Given the description of an element on the screen output the (x, y) to click on. 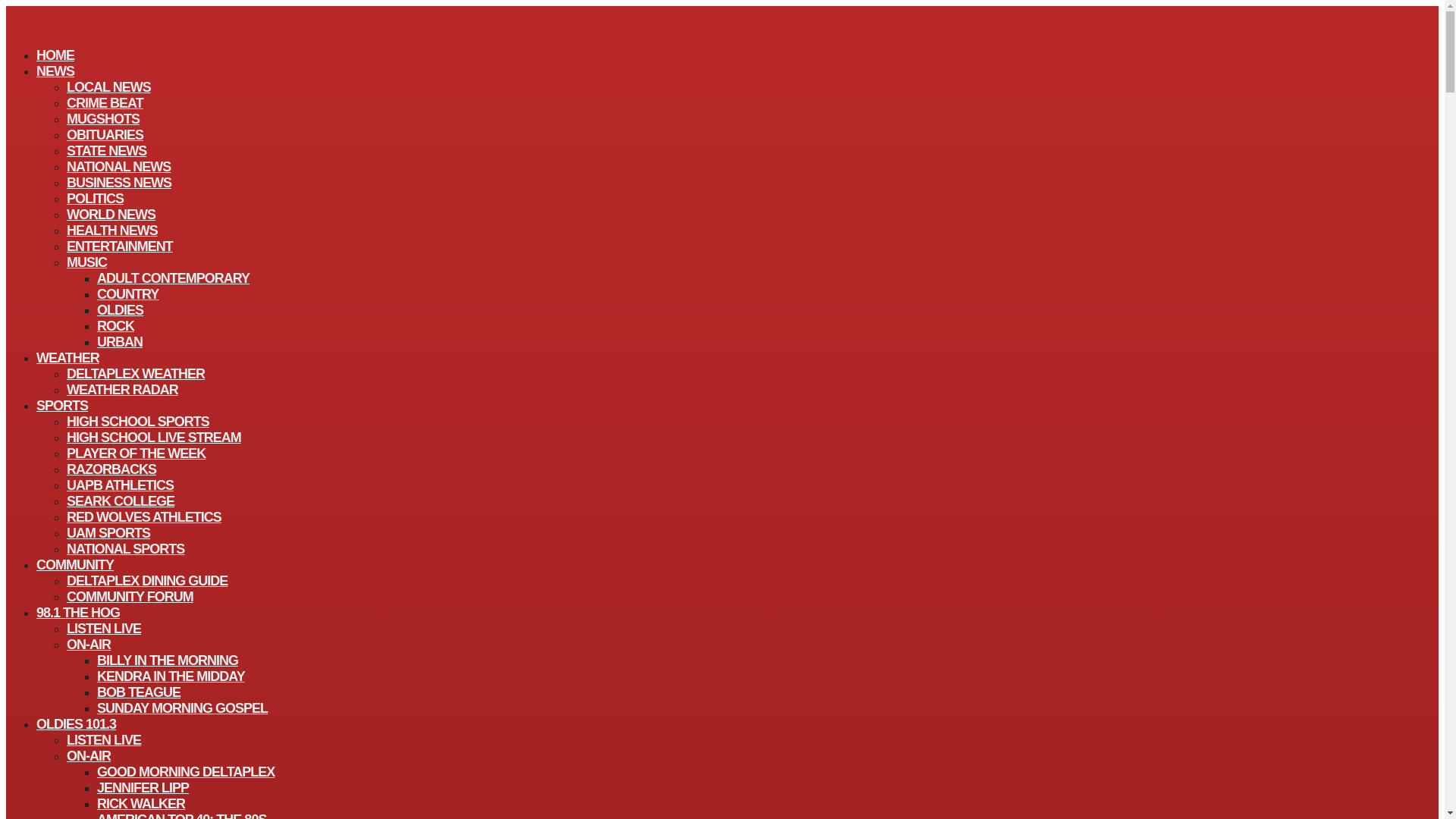
DELTAPLEX DINING GUIDE (146, 580)
MUSIC (86, 261)
RAZORBACKS (110, 468)
ON-AIR (88, 644)
98.1 THE HOG (77, 612)
NEWS (55, 70)
UAPB ATHLETICS (119, 485)
NATIONAL SPORTS (125, 548)
LOCAL NEWS (108, 86)
NATIONAL NEWS (118, 166)
COUNTRY (127, 293)
SEARK COLLEGE (120, 500)
ADULT CONTEMPORARY (172, 278)
BUSINESS NEWS (118, 182)
HEALTH NEWS (111, 230)
